Given the description of an element on the screen output the (x, y) to click on. 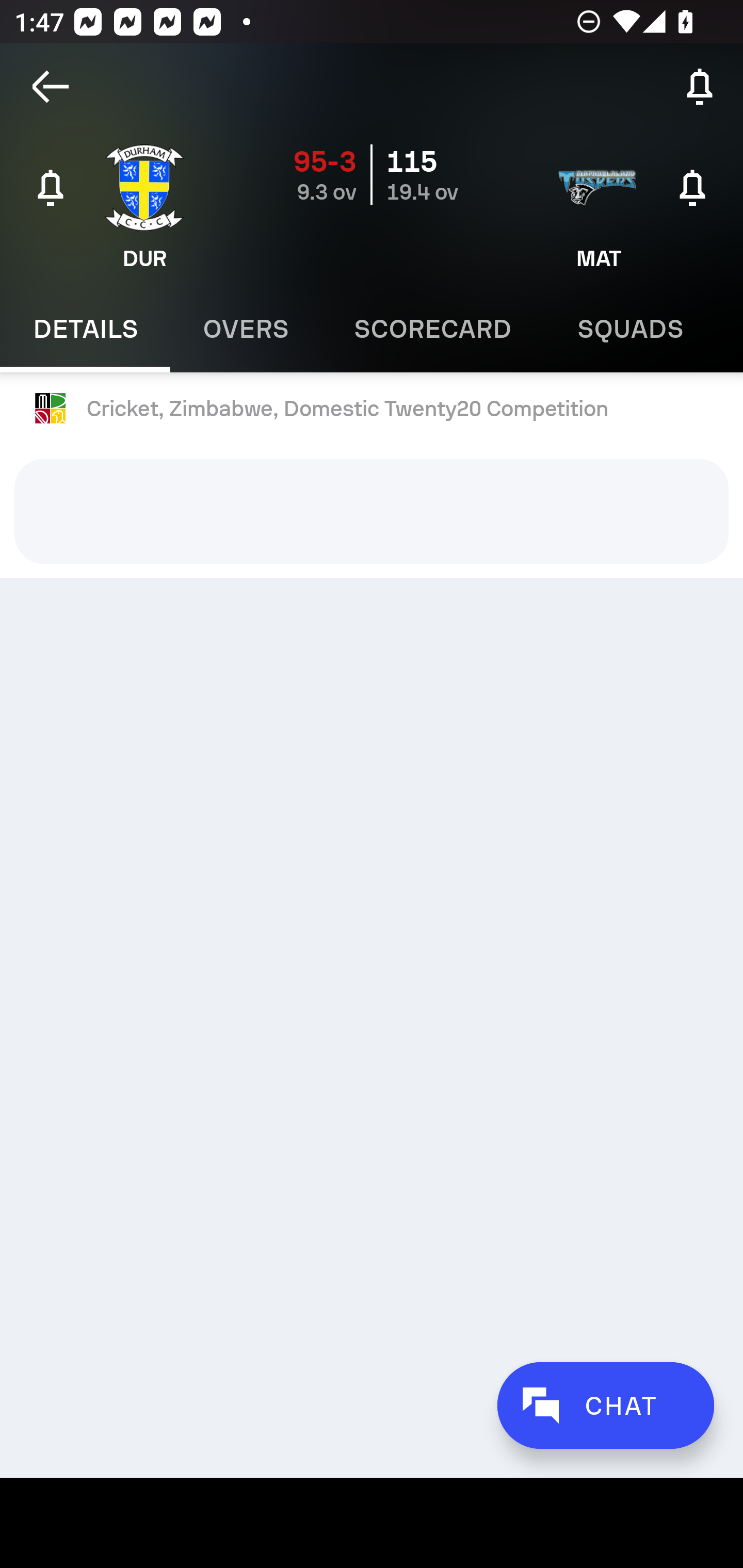
Navigate up (50, 86)
Overs OVERS (245, 329)
Scorecard SCORECARD (432, 329)
Squads SQUADS (630, 329)
Cricket, Zimbabwe, Domestic Twenty20 Competition (371, 409)
CHAT (605, 1405)
